Given the description of an element on the screen output the (x, y) to click on. 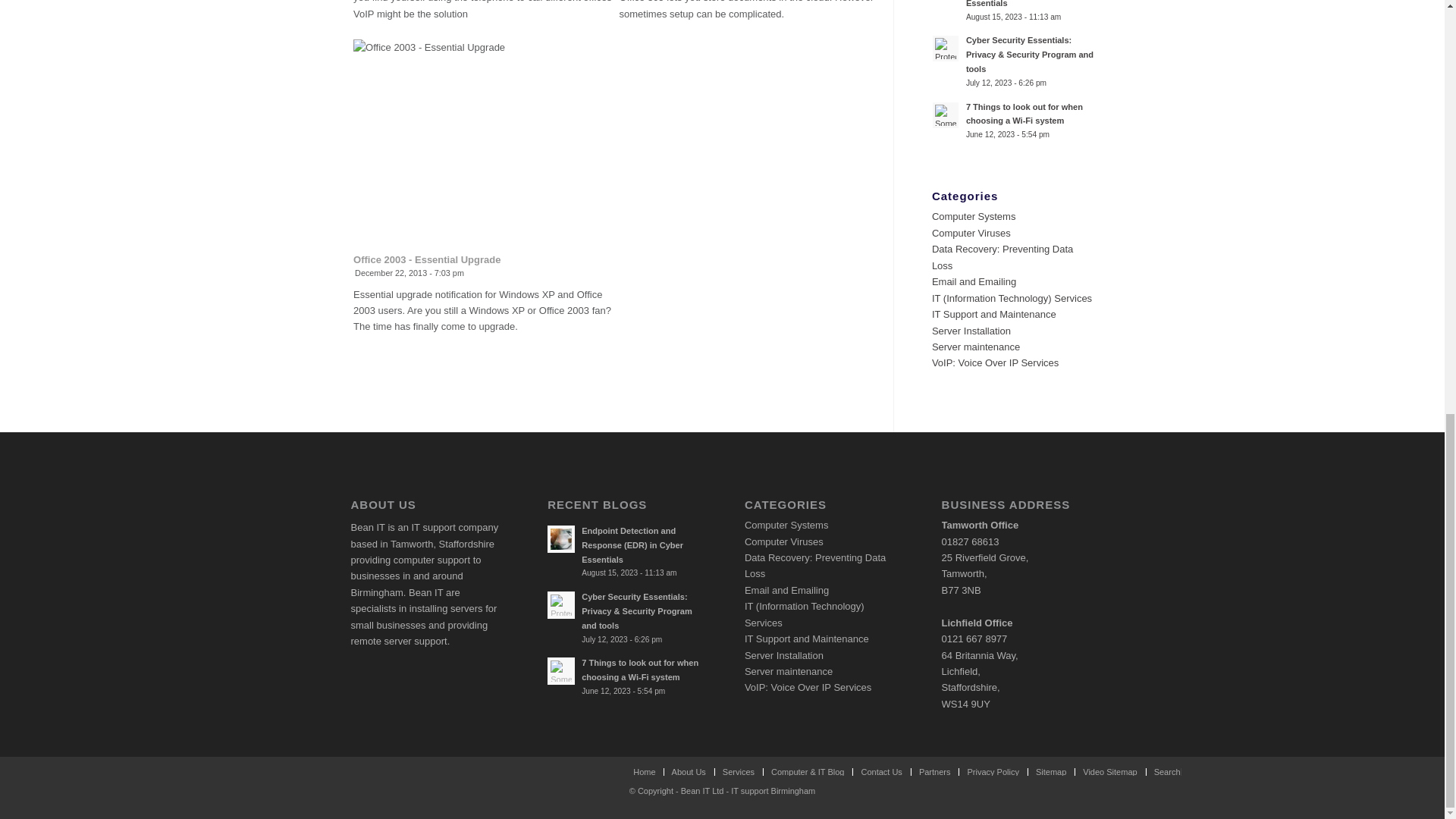
Office 2003 - Essential Upgrade (426, 259)
